Given the description of an element on the screen output the (x, y) to click on. 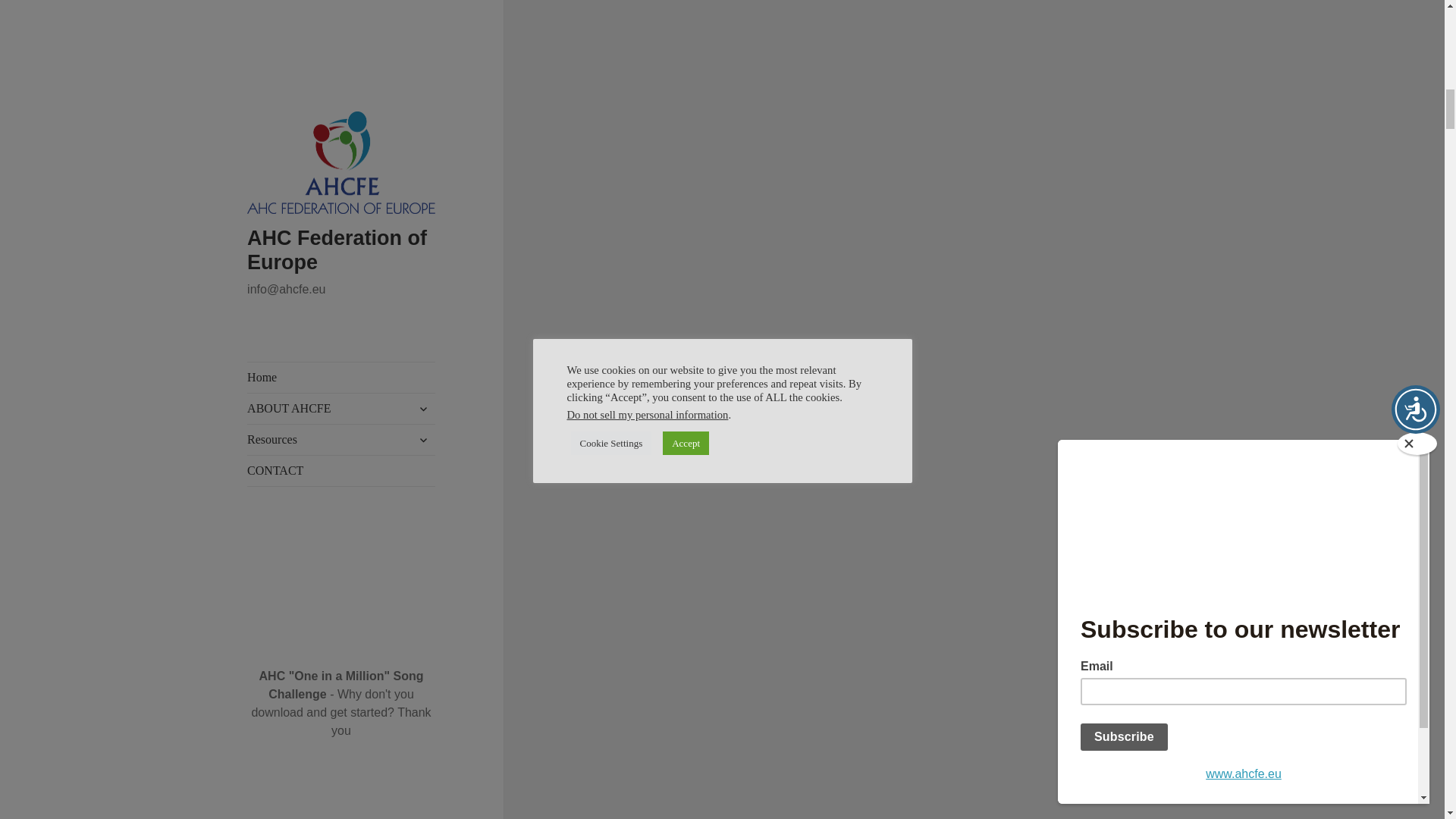
YouTube video player (834, 703)
